Given the description of an element on the screen output the (x, y) to click on. 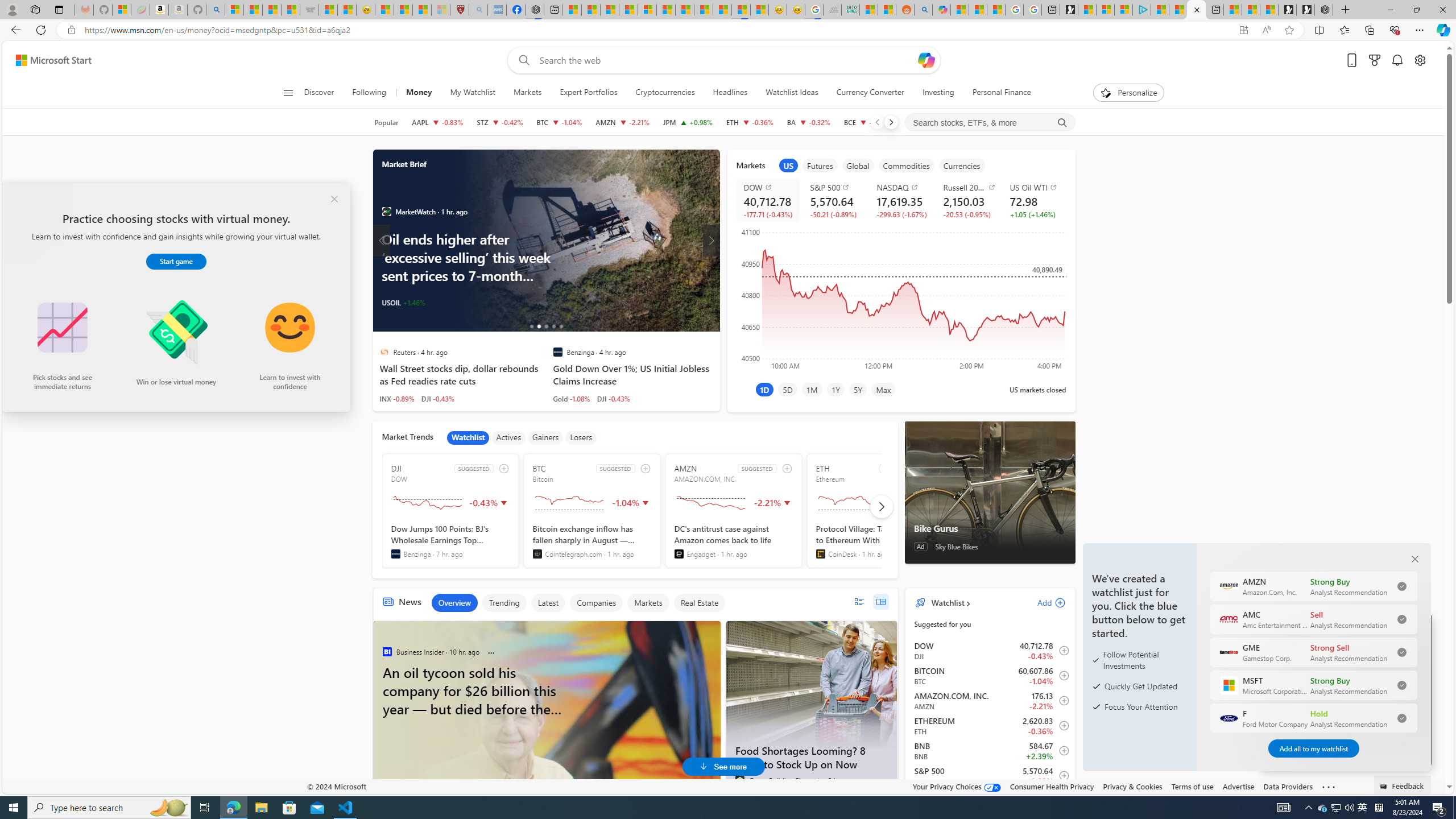
Green Building Elements (739, 779)
Overview (453, 602)
ETH Ethereum decrease 2,620.83 -9.43 -0.36% (749, 122)
